Given the description of an element on the screen output the (x, y) to click on. 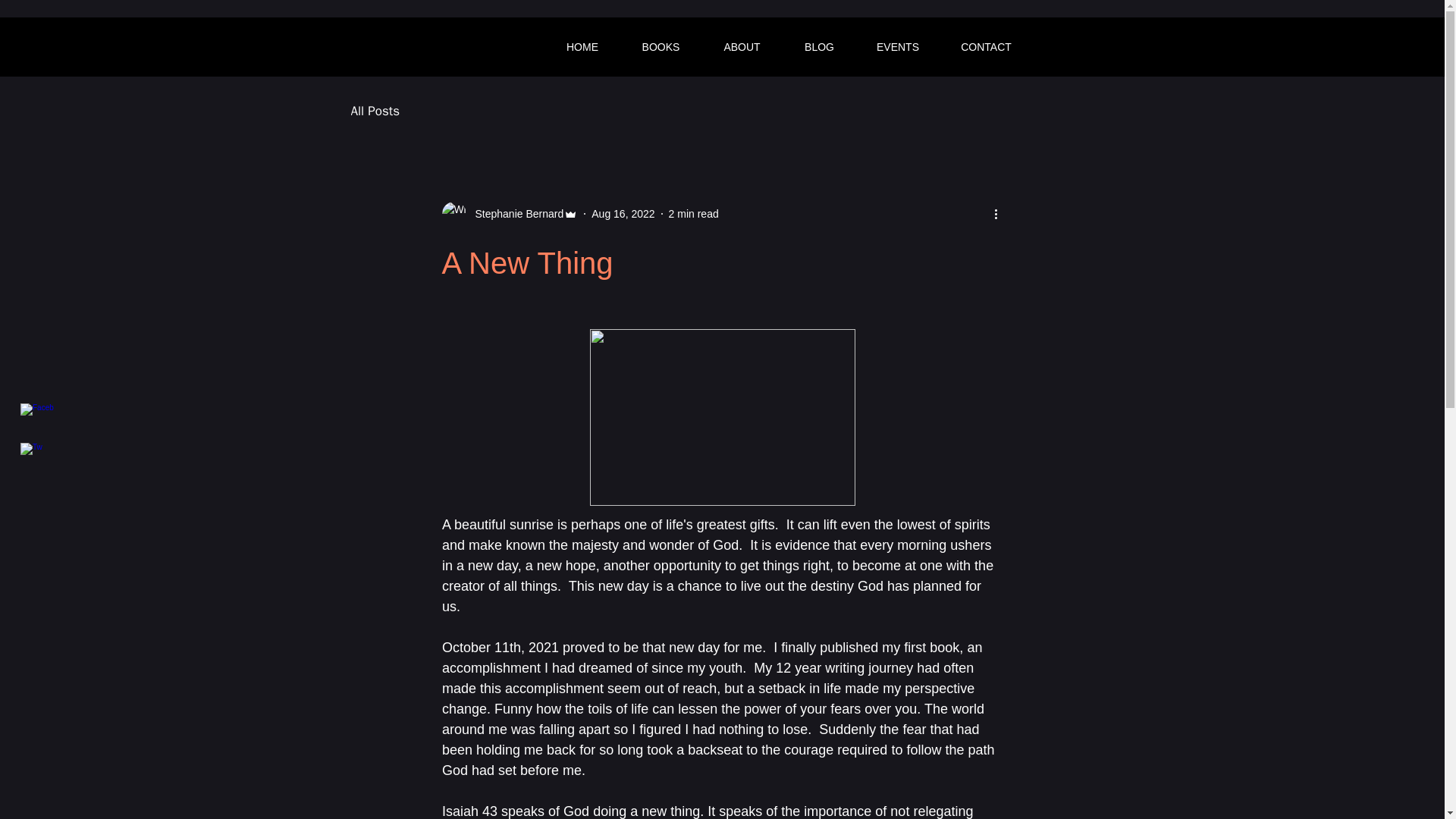
2 min read (693, 214)
Aug 16, 2022 (622, 214)
BLOG (819, 46)
Stephanie Bernard (514, 213)
All Posts (374, 109)
ABOUT (742, 46)
CONTACT (985, 46)
EVENTS (897, 46)
Stephanie Bernard (509, 213)
HOME (582, 46)
